Given the description of an element on the screen output the (x, y) to click on. 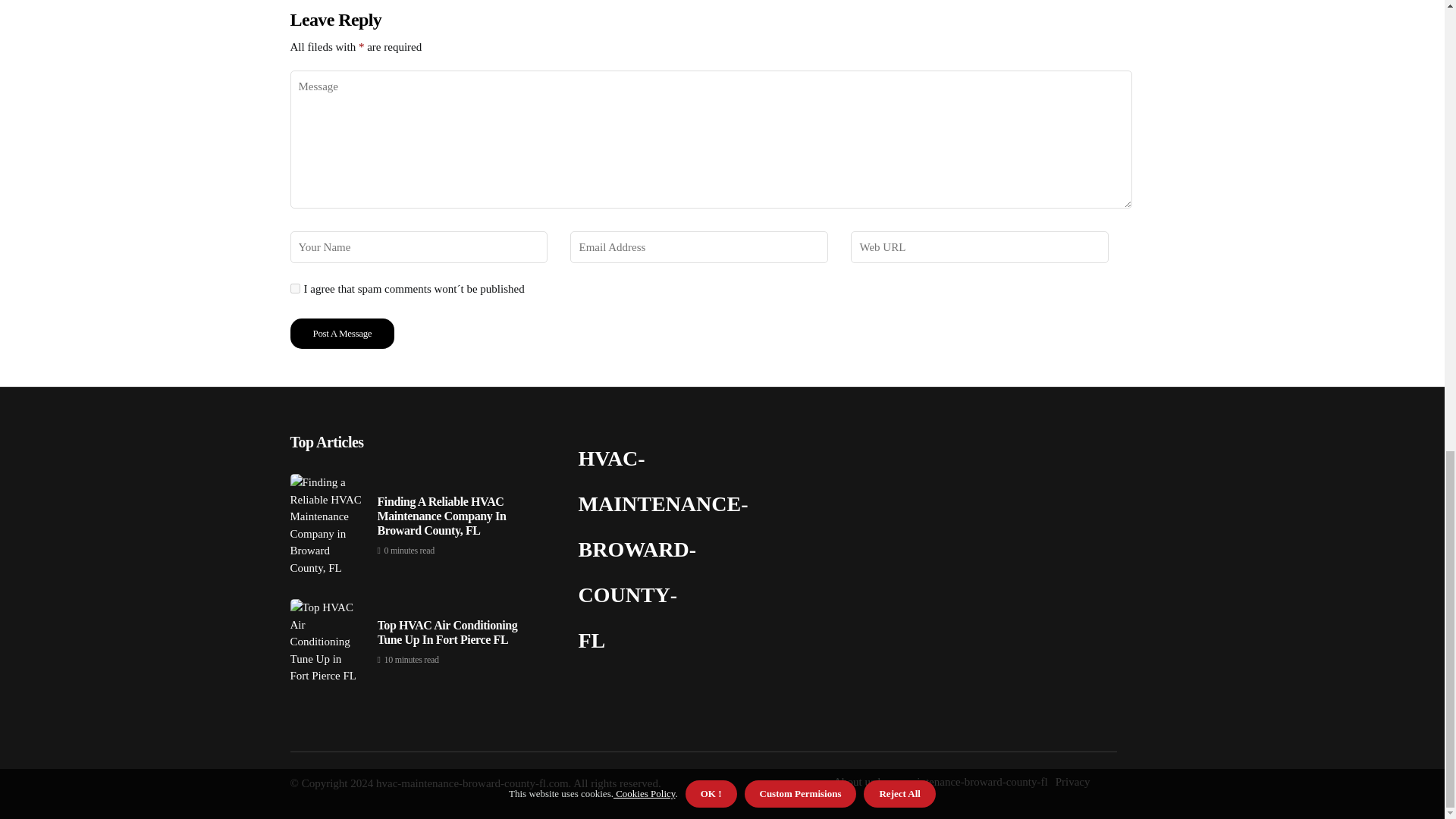
yes (294, 288)
Post a Message (341, 333)
Post a Message (341, 333)
